Given the description of an element on the screen output the (x, y) to click on. 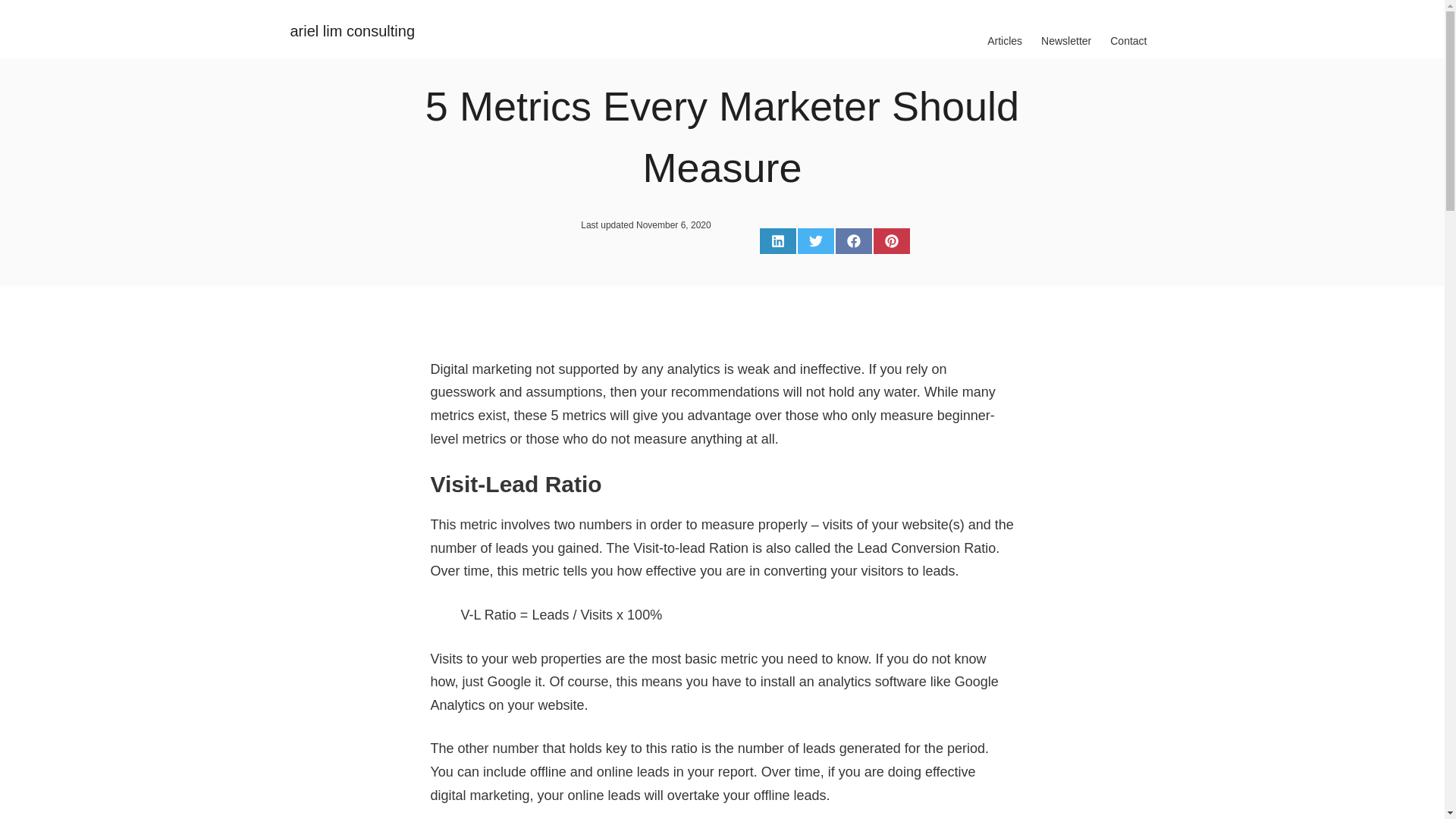
ariel lim consulting (351, 30)
Contact (1128, 40)
Articles (1004, 40)
Newsletter (1066, 40)
